Given the description of an element on the screen output the (x, y) to click on. 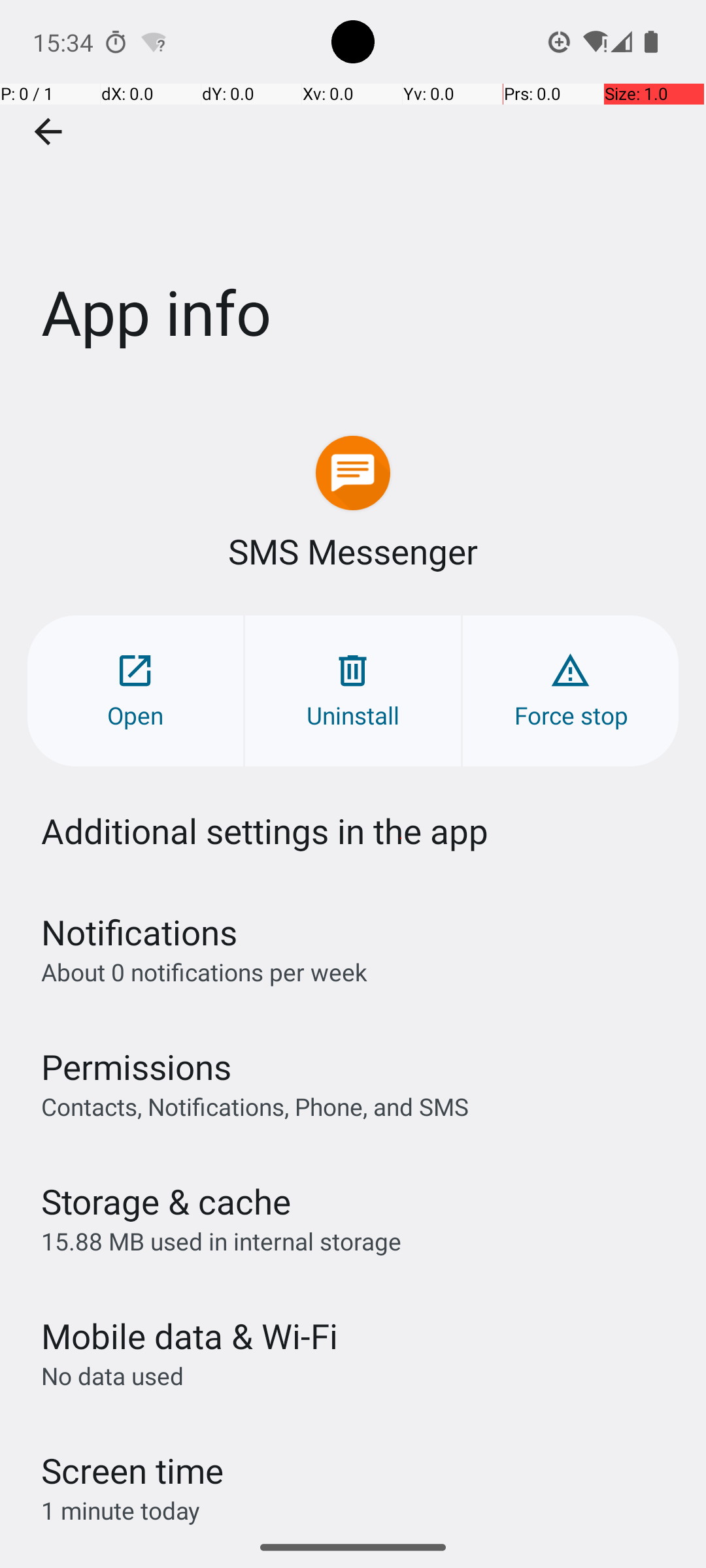
Contacts, Notifications, Phone, and SMS Element type: android.widget.TextView (254, 1106)
15.88 MB used in internal storage Element type: android.widget.TextView (221, 1240)
1 minute today Element type: android.widget.TextView (120, 1509)
